Given the description of an element on the screen output the (x, y) to click on. 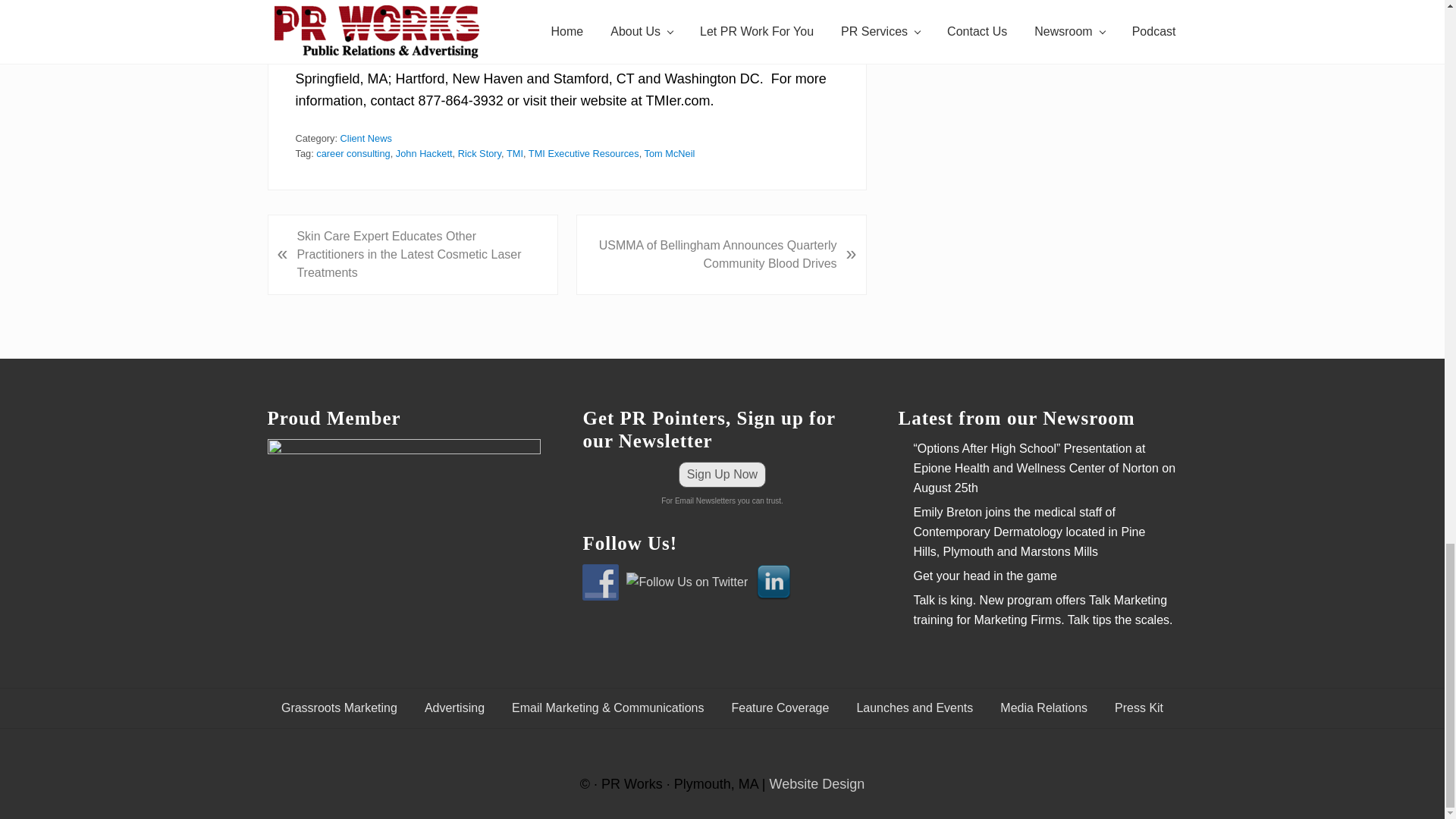
Follow Us on Twitter (687, 582)
Follow Us on Facebook (600, 582)
Follow Us on LinkedIn (773, 582)
